Given the description of an element on the screen output the (x, y) to click on. 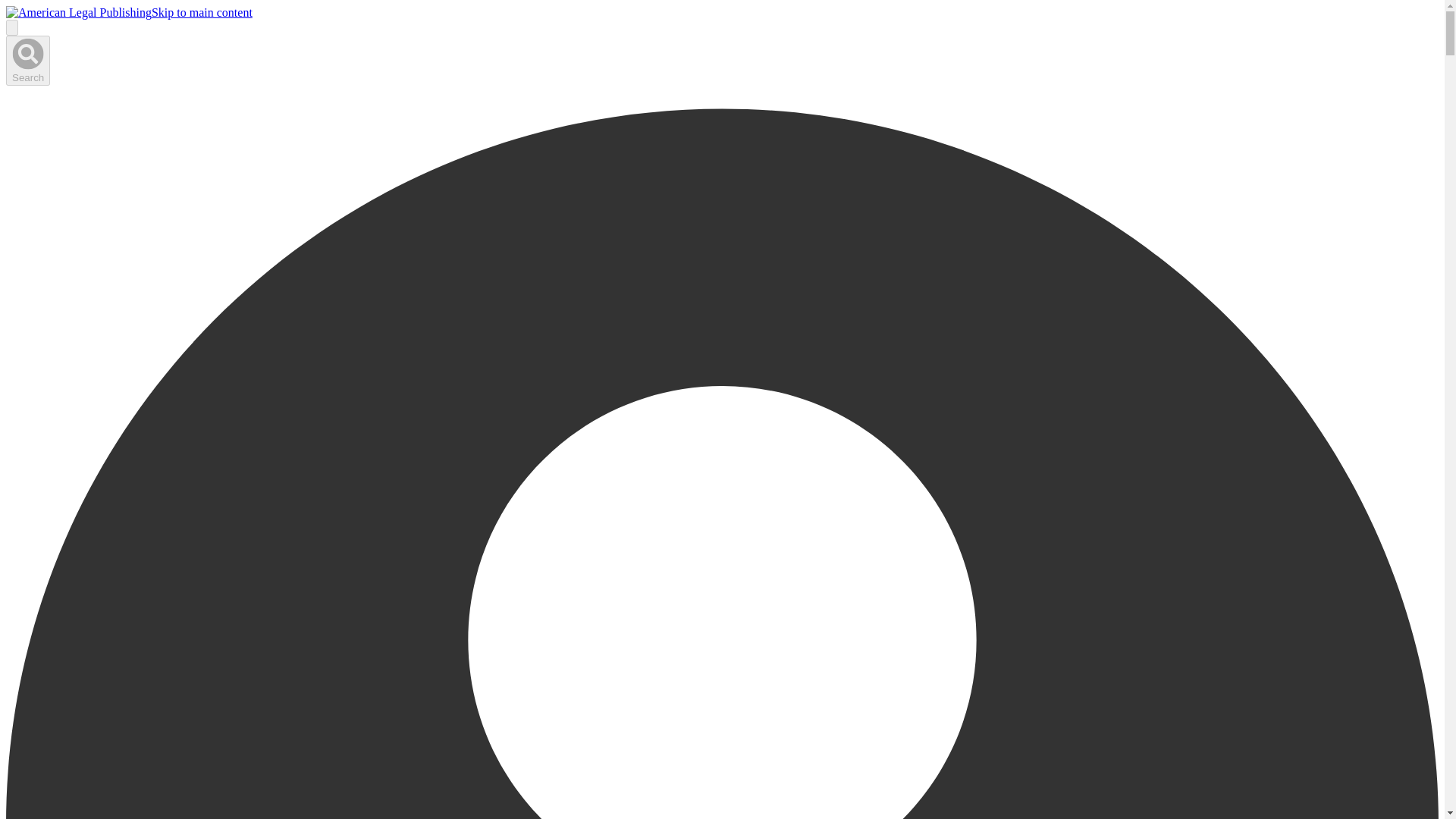
Skip to main content (201, 11)
